Given the description of an element on the screen output the (x, y) to click on. 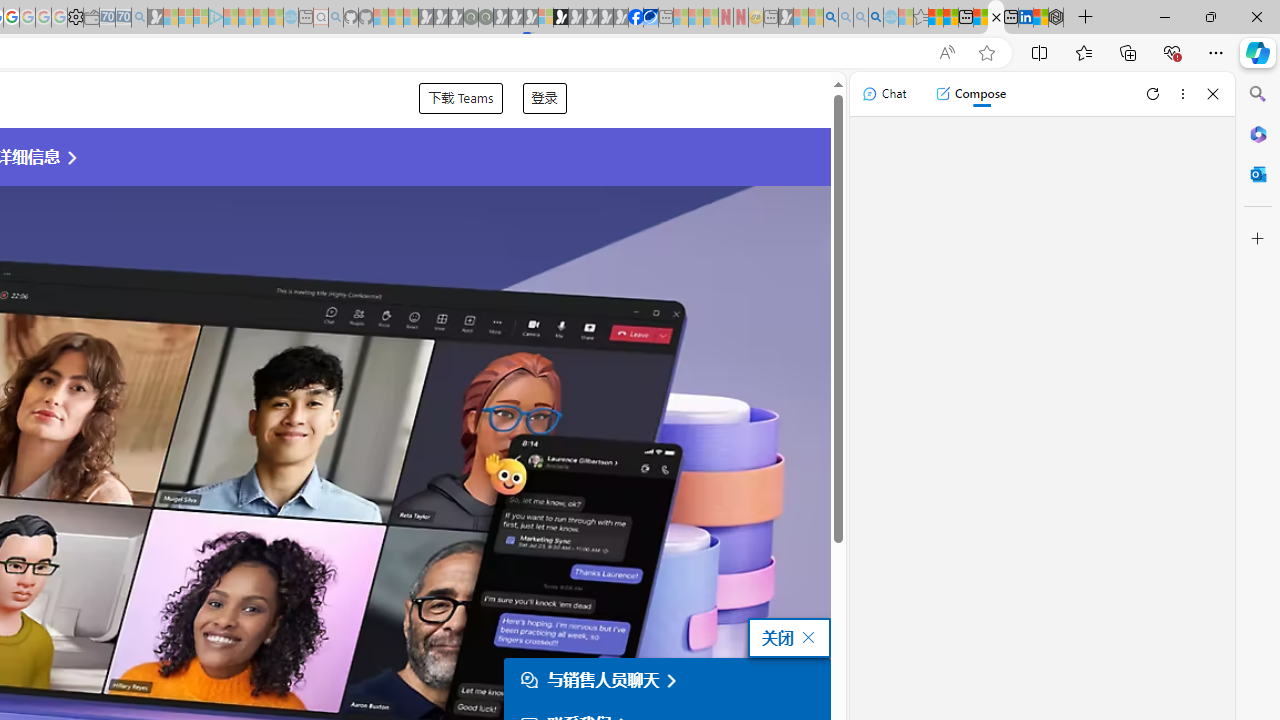
Bing AI - Search (831, 17)
LinkedIn (1025, 17)
